Given the description of an element on the screen output the (x, y) to click on. 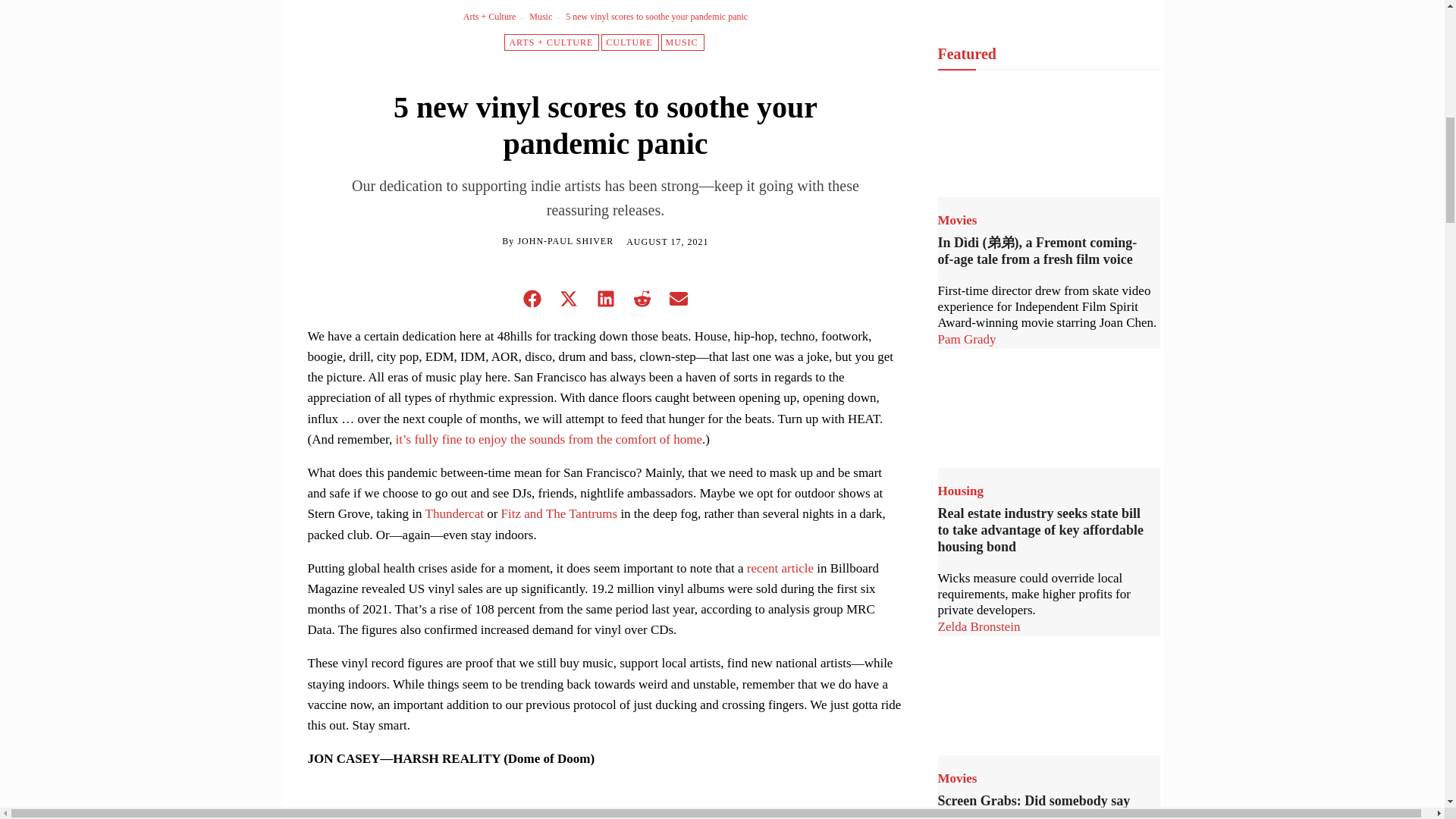
NOSEDIVE (571, 800)
View all posts in Music (540, 16)
